Given the description of an element on the screen output the (x, y) to click on. 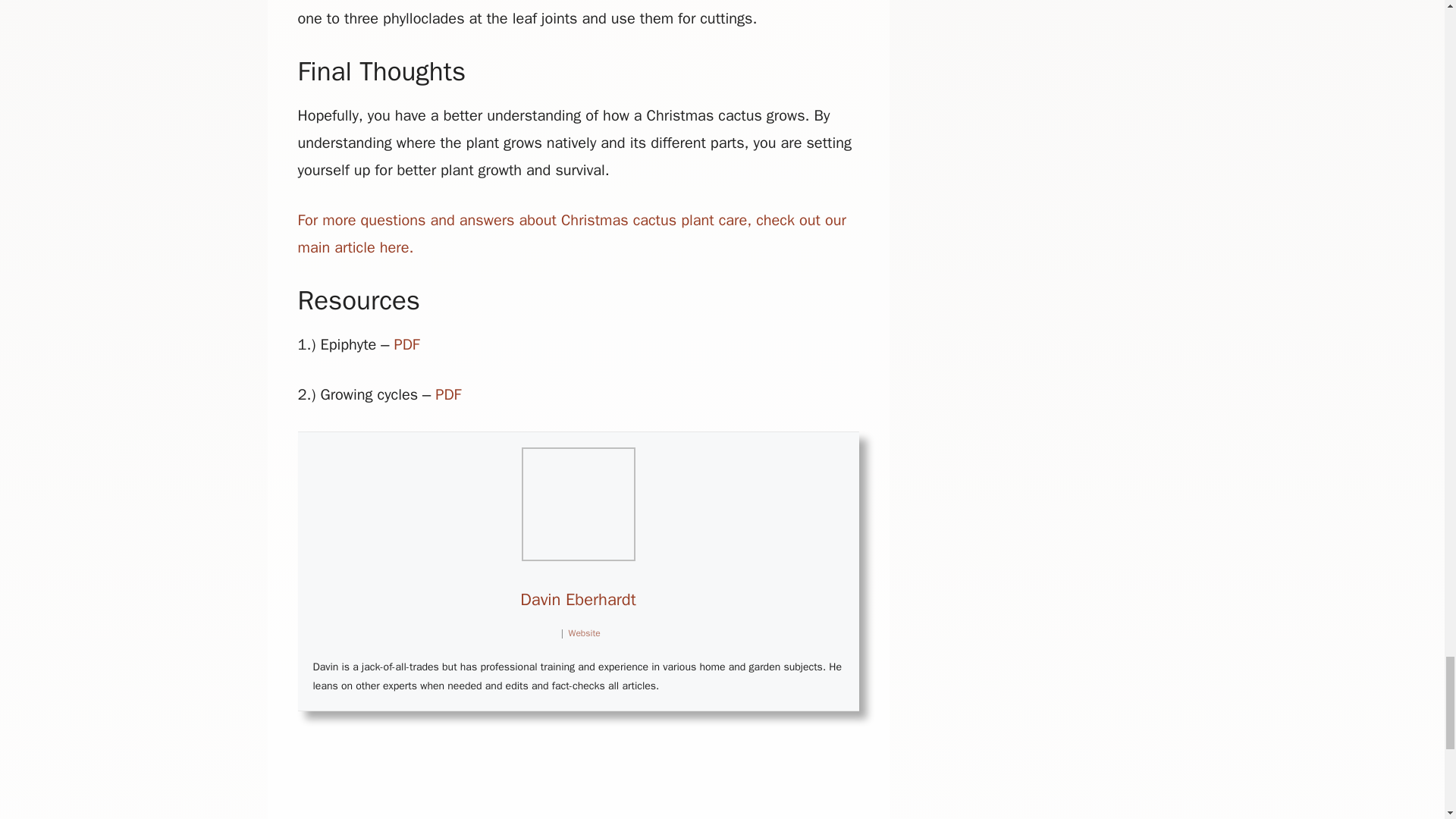
Website (584, 633)
PDF (406, 343)
PDF (448, 394)
Davin Eberhardt (576, 599)
